Given the description of an element on the screen output the (x, y) to click on. 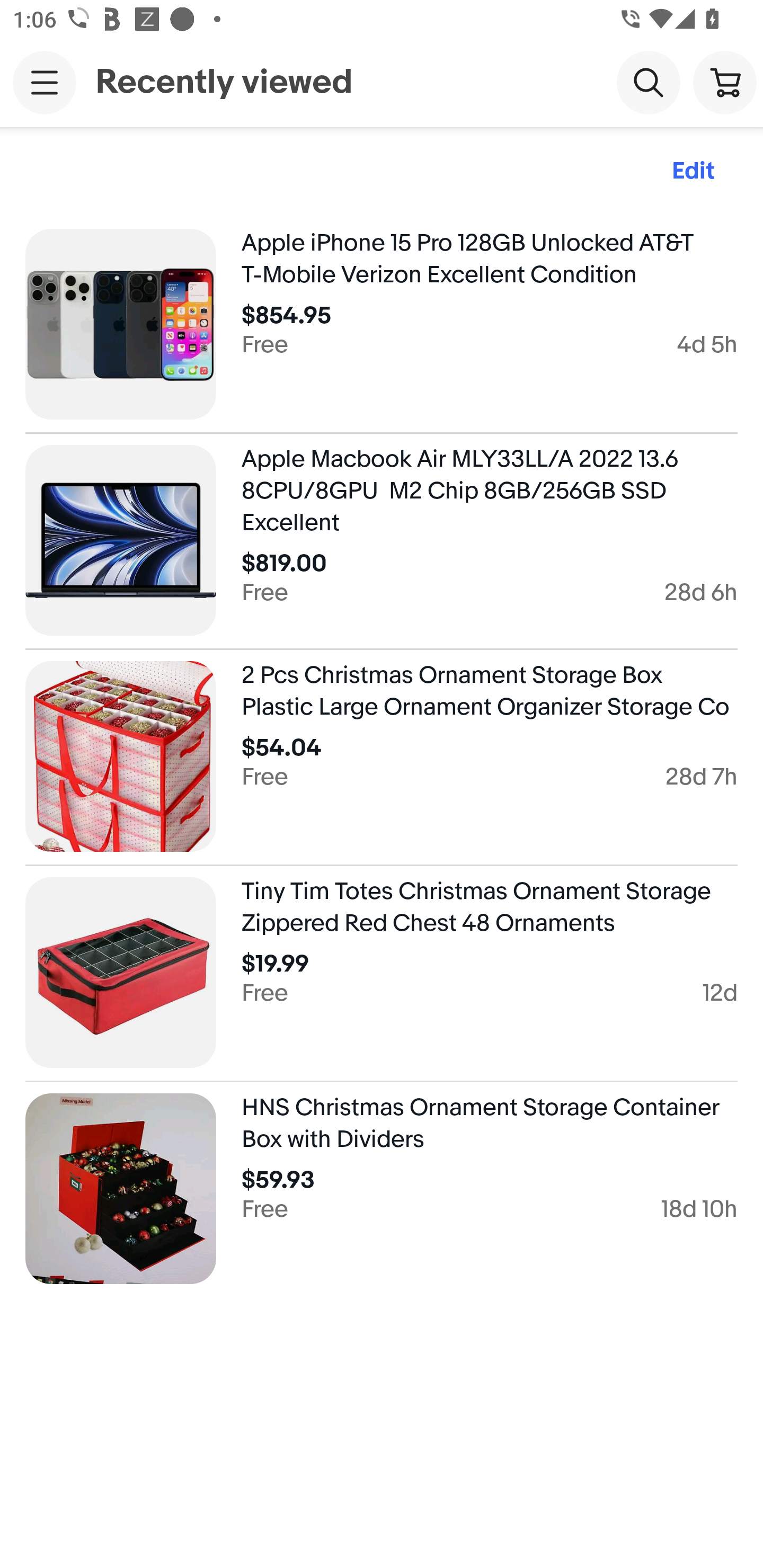
Main navigation, open (44, 82)
Search (648, 81)
Cart button shopping cart (724, 81)
Edit (693, 171)
